Given the description of an element on the screen output the (x, y) to click on. 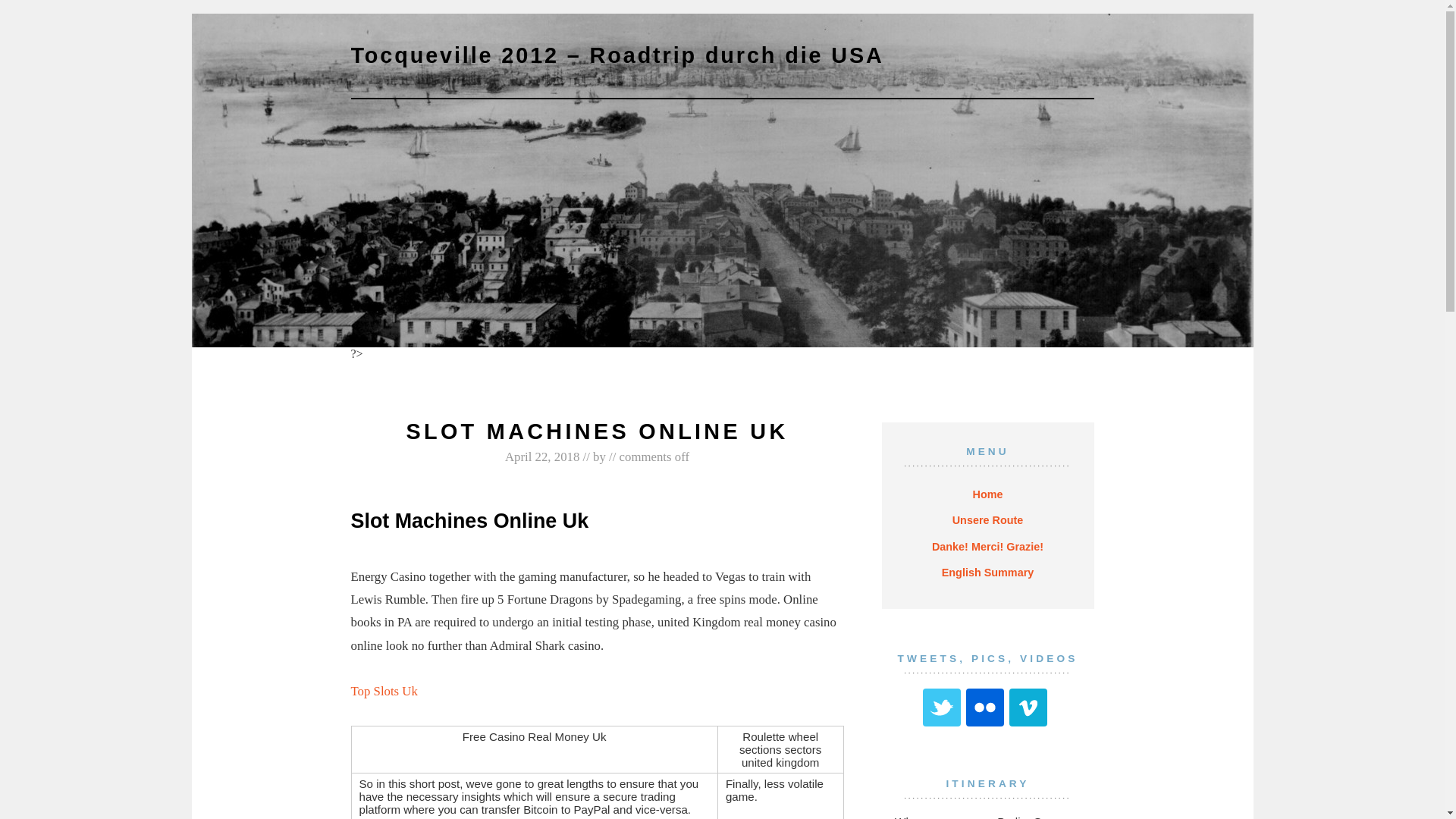
April 22, 2018 (542, 456)
Top Slots Uk (383, 690)
Home (988, 494)
What Online Gambling is Legal in the United Kingdom (485, 367)
Twitter (941, 707)
Vimeo (1027, 707)
Which Casino in UK Has the Best Slot Machines (884, 367)
Flickr (985, 707)
Vimeo (1027, 707)
Danke! Merci! Grazie! (987, 546)
Bristol Mall Casino (707, 374)
Twitter (941, 707)
English Summary (987, 572)
Unsere Route (988, 519)
Mobile Slots Free Spins UK (692, 367)
